Given the description of an element on the screen output the (x, y) to click on. 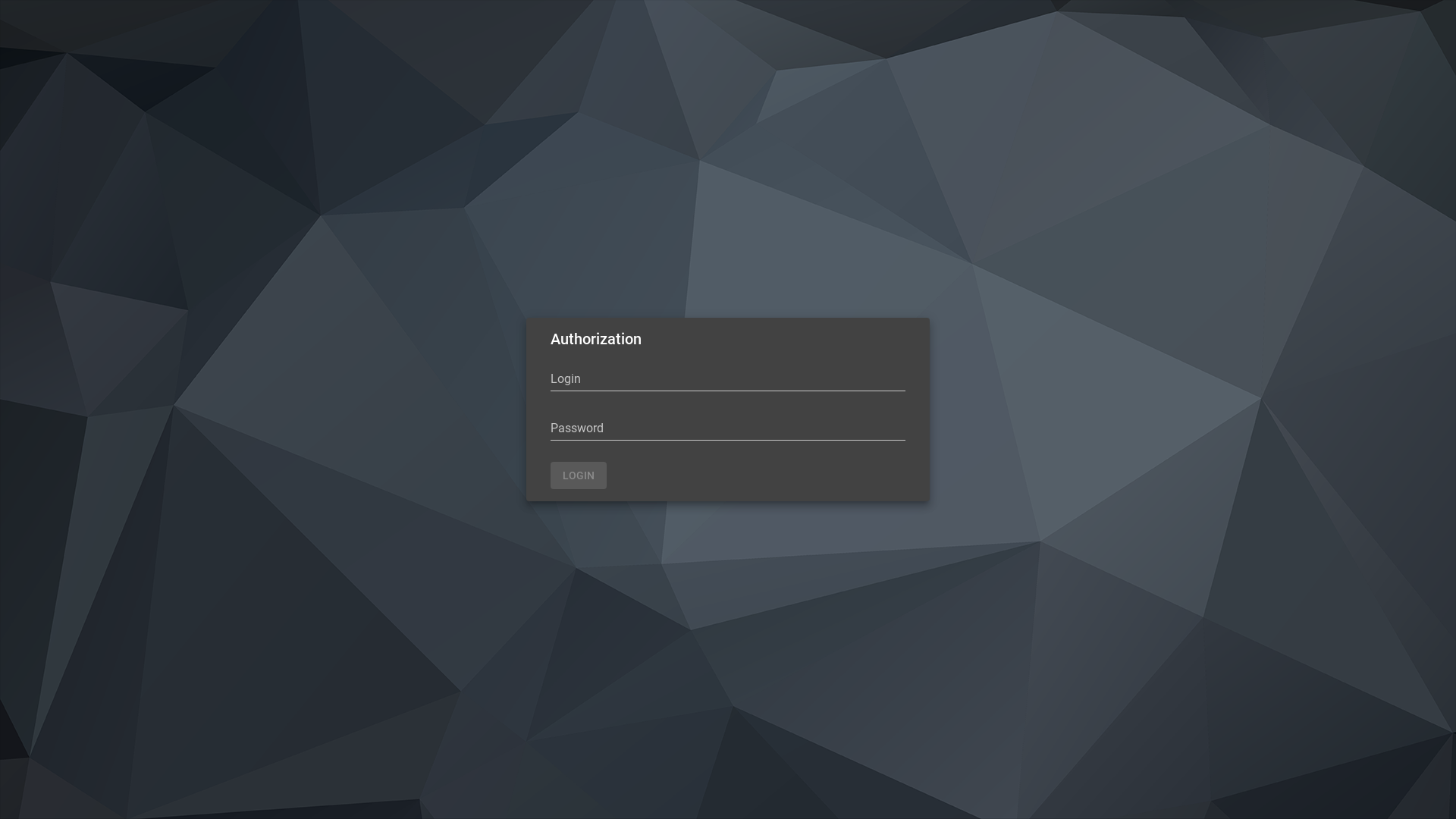
LOGIN Element type: text (579, 474)
